Given the description of an element on the screen output the (x, y) to click on. 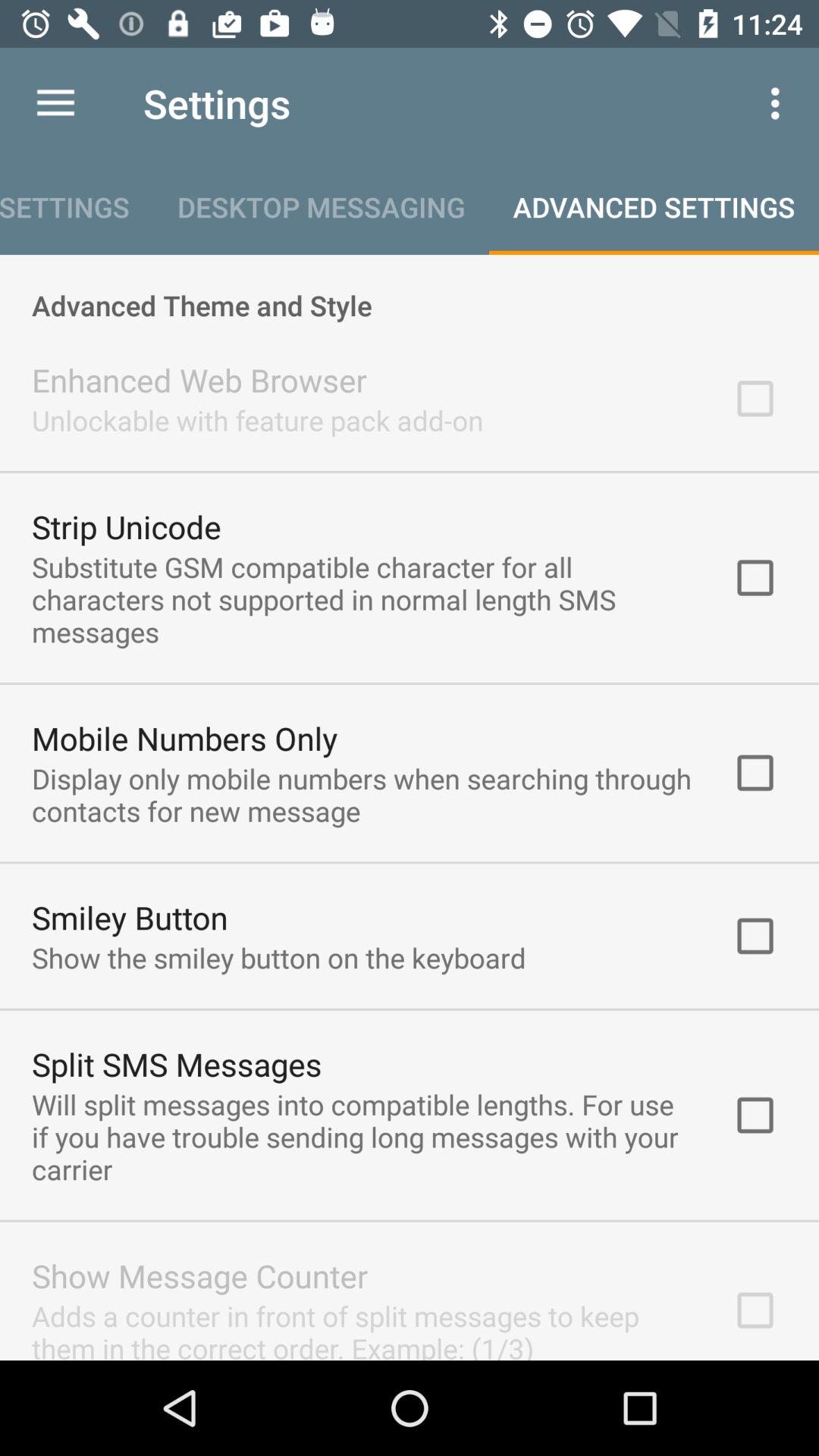
tap item below the strip unicode icon (361, 599)
